Given the description of an element on the screen output the (x, y) to click on. 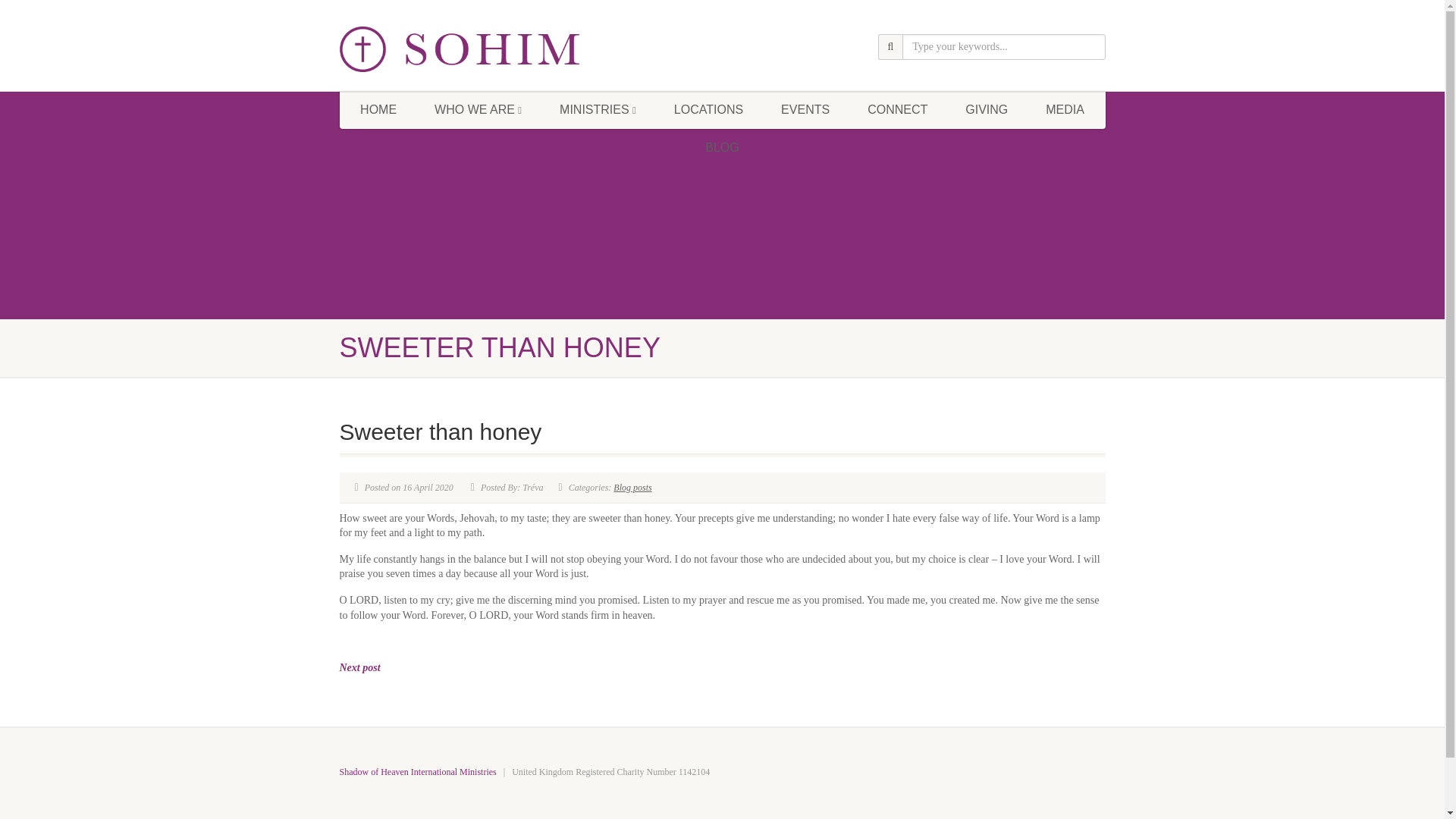
WHO WE ARE (477, 109)
MEDIA (1064, 109)
EVENTS (804, 109)
Blog posts (631, 487)
BLOG (721, 147)
LOCATIONS (708, 109)
HOME (377, 109)
Shadow of Heaven International Ministries (417, 771)
SOHIM (459, 49)
CONNECT (897, 109)
MINISTRIES (597, 109)
Next post (359, 667)
GIVING (986, 109)
